Given the description of an element on the screen output the (x, y) to click on. 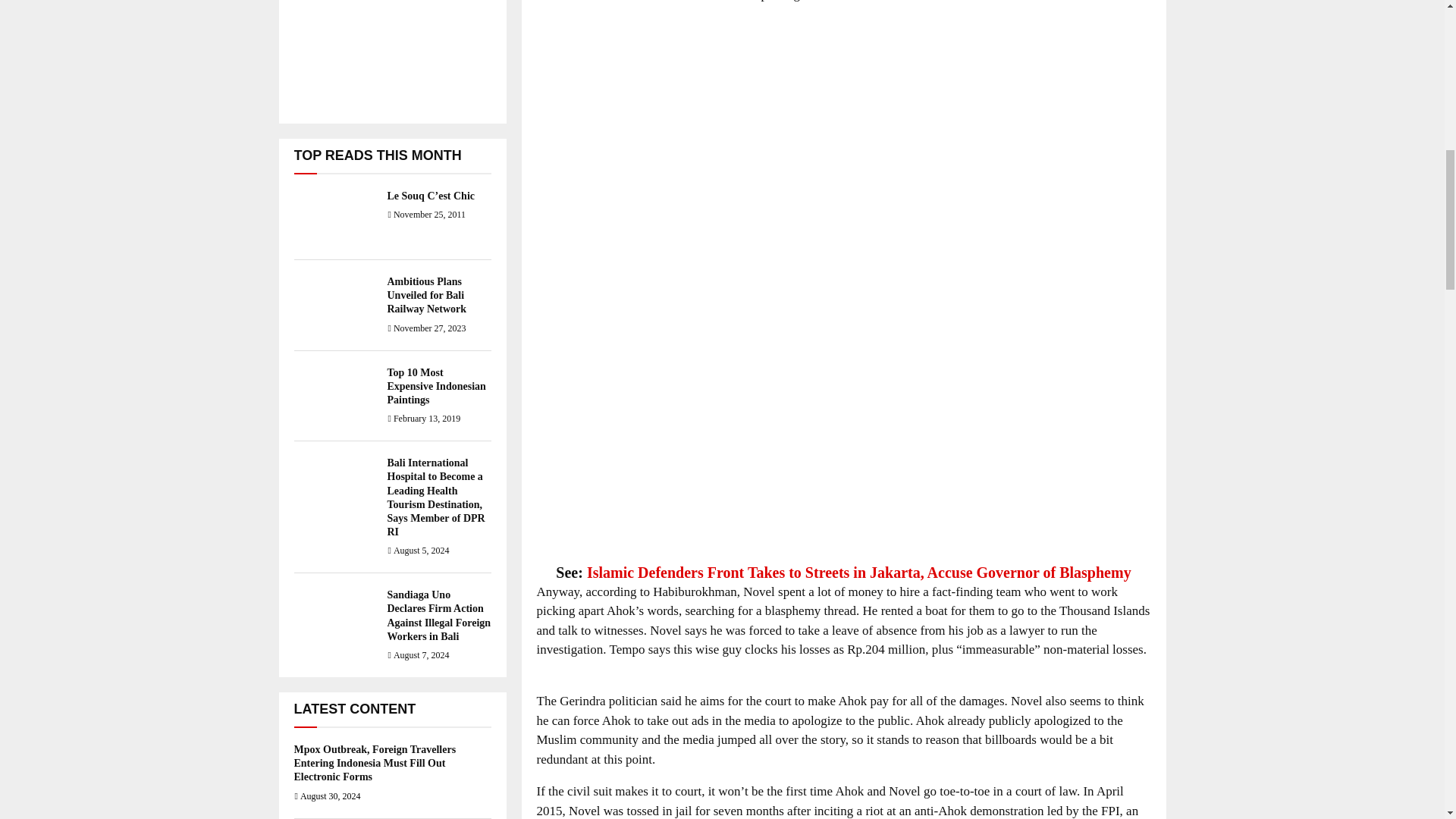
 Top 10 Most Expensive Indonesian Paintings  (435, 385)
 Ambitious Plans Unveiled for Bali Railway Network  (426, 295)
